Given the description of an element on the screen output the (x, y) to click on. 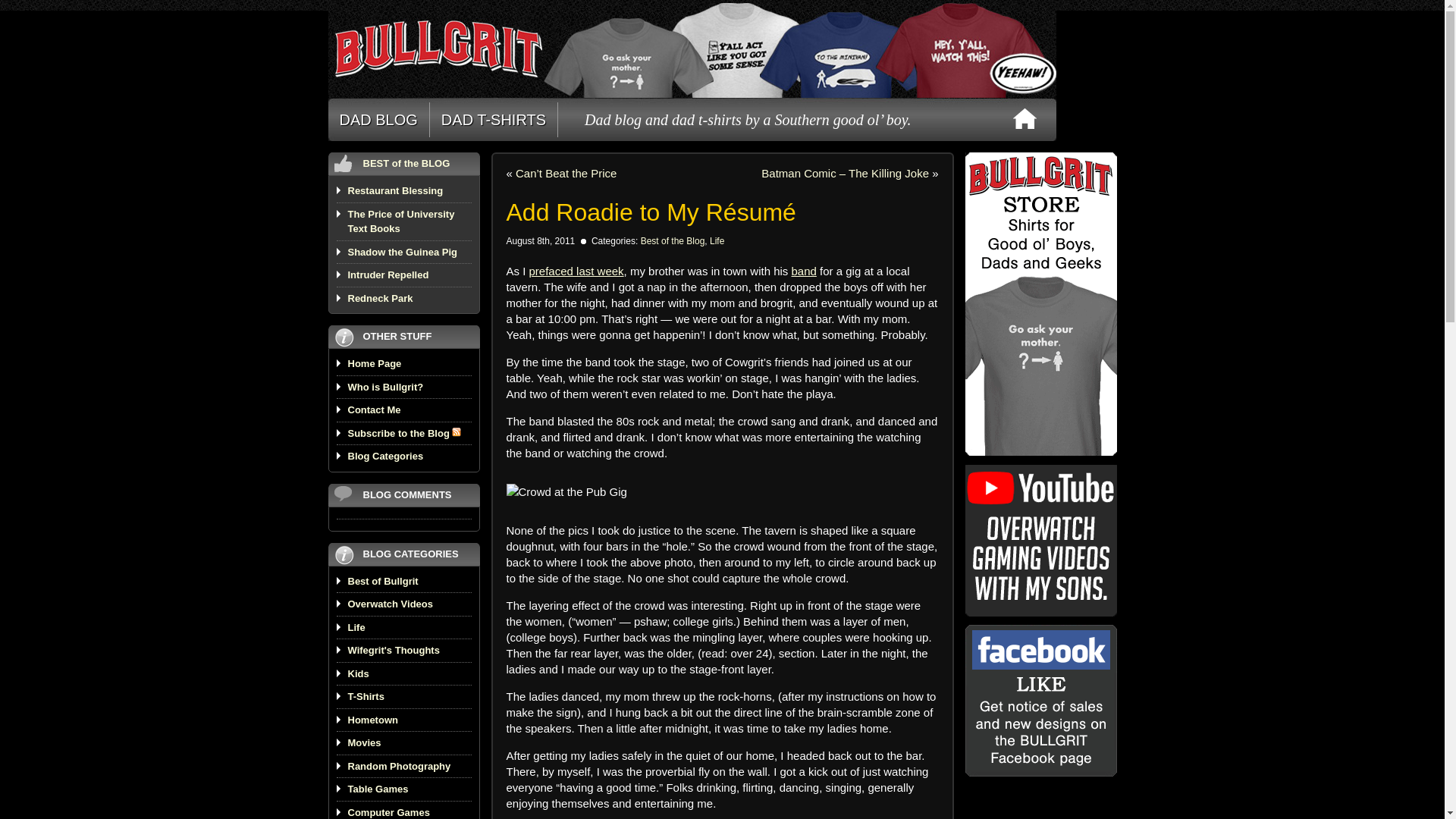
Life (356, 627)
September 13, 2013 (402, 251)
Overwatch Videos (389, 603)
September 3, 2007 (379, 297)
Best of the Blog (672, 240)
Best of Bullgrit (382, 580)
Kids (357, 672)
Crowd at the Pub Gig (566, 491)
Redneck Park (379, 297)
Intruder Repelled (387, 274)
